Given the description of an element on the screen output the (x, y) to click on. 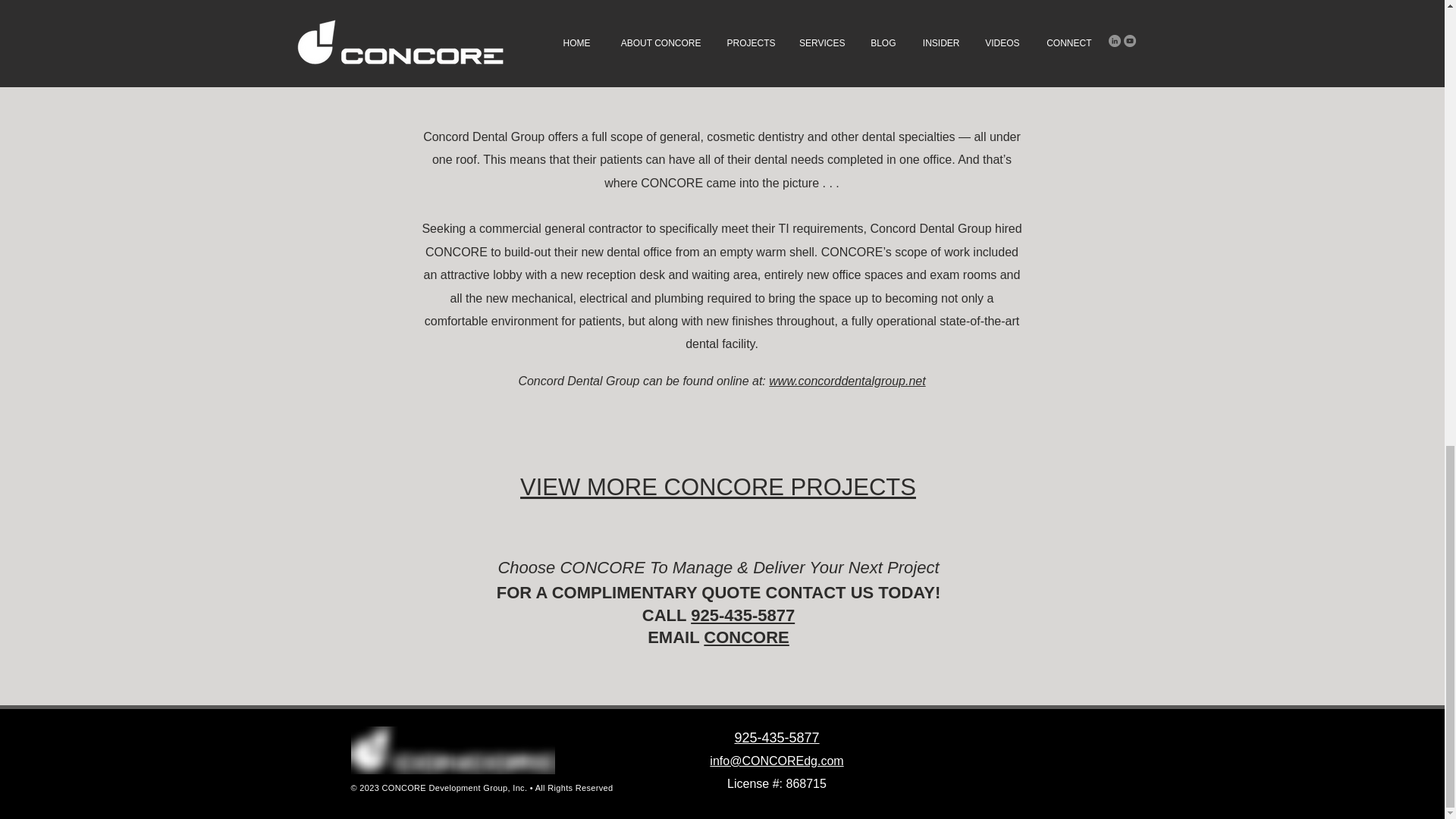
925-435-5877 (775, 737)
925-435-5877 (742, 615)
VIEW MORE CONCORE PROJECTS (717, 487)
CONCORE (746, 637)
www.concorddentalgroup.net (846, 380)
